Given the description of an element on the screen output the (x, y) to click on. 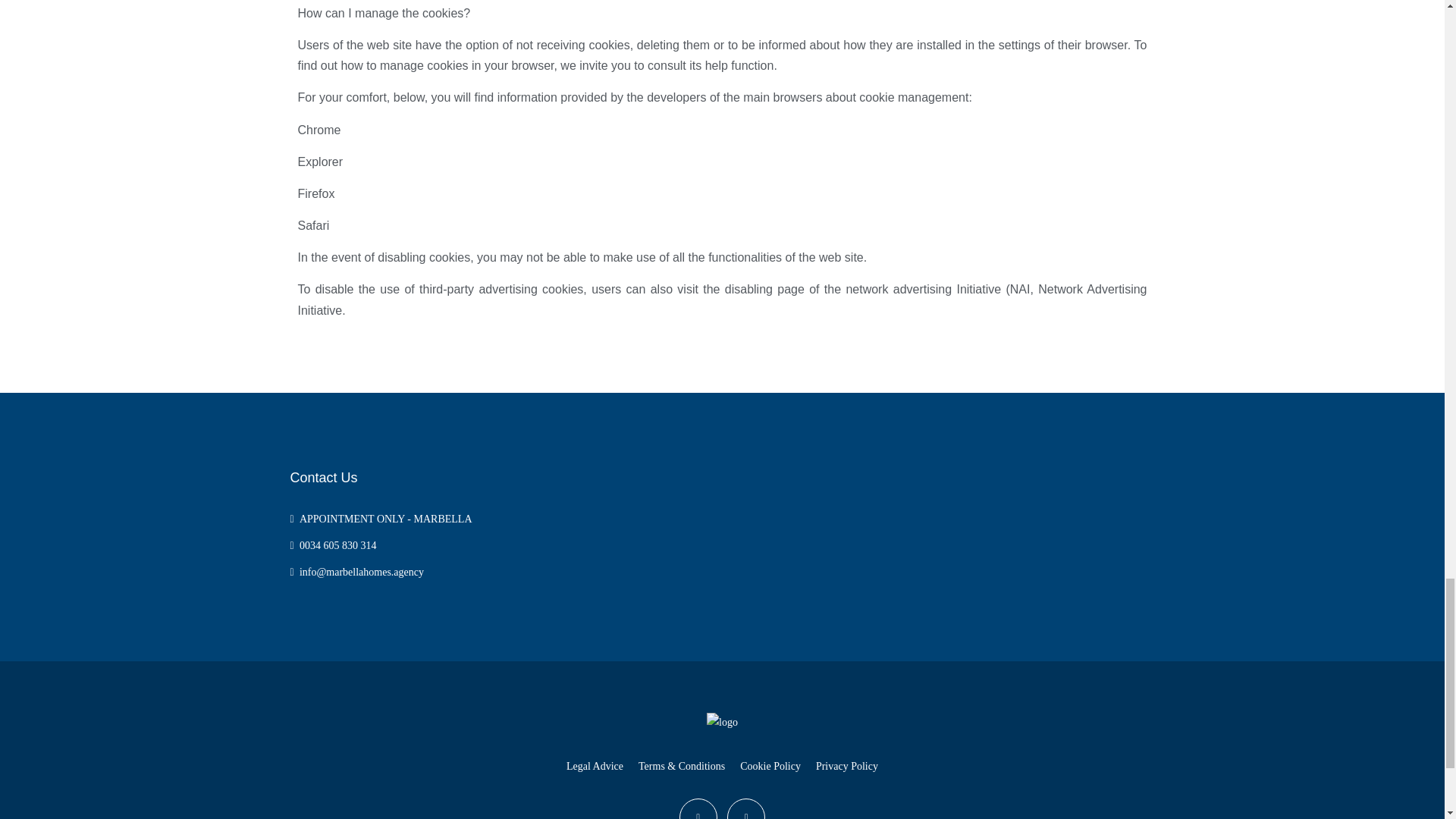
Legal Advice (594, 766)
Cookie Policy (769, 766)
Privacy Policy (846, 766)
